Given the description of an element on the screen output the (x, y) to click on. 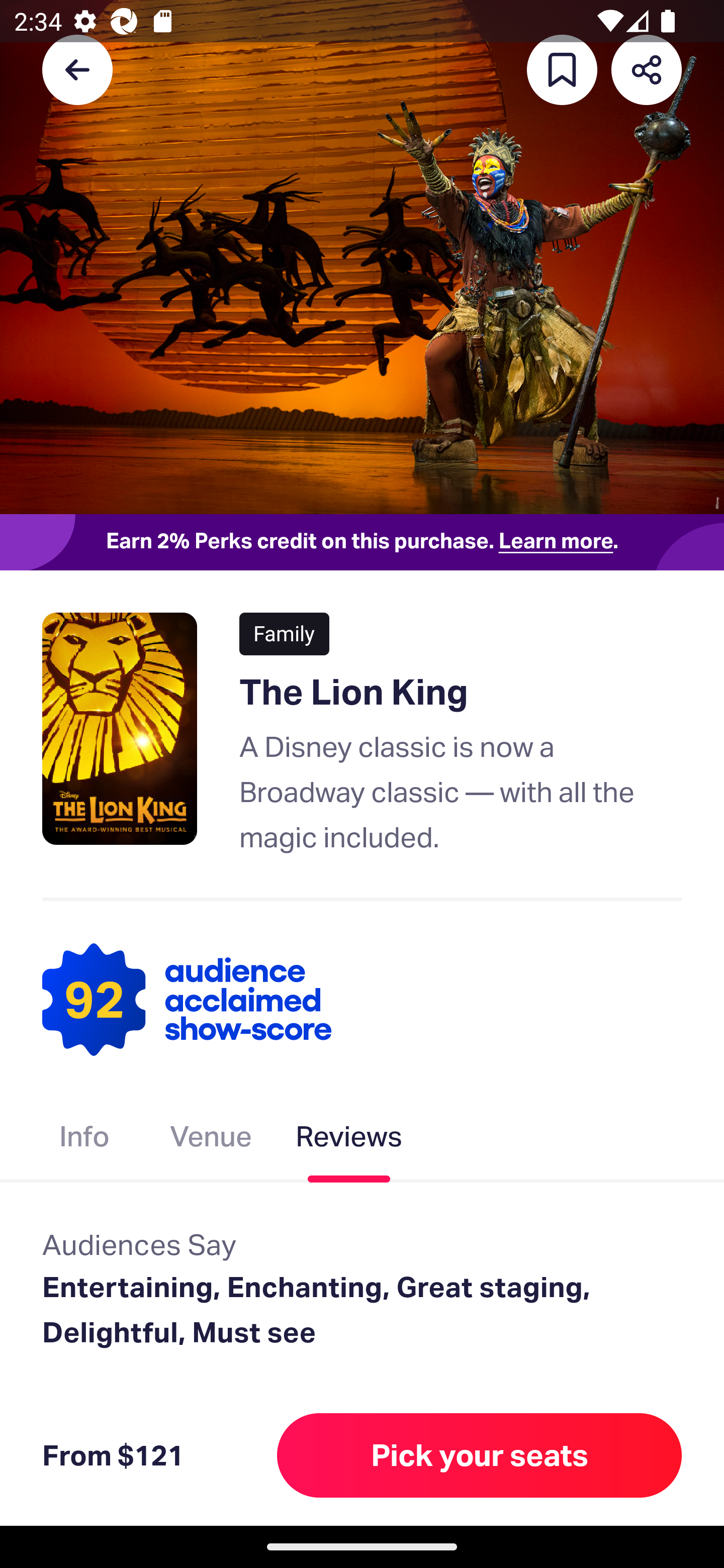
Earn 2% Perks credit on this purchase. Learn more. (362, 542)
Info (83, 1139)
Venue (210, 1139)
Pick your seats (479, 1454)
